Given the description of an element on the screen output the (x, y) to click on. 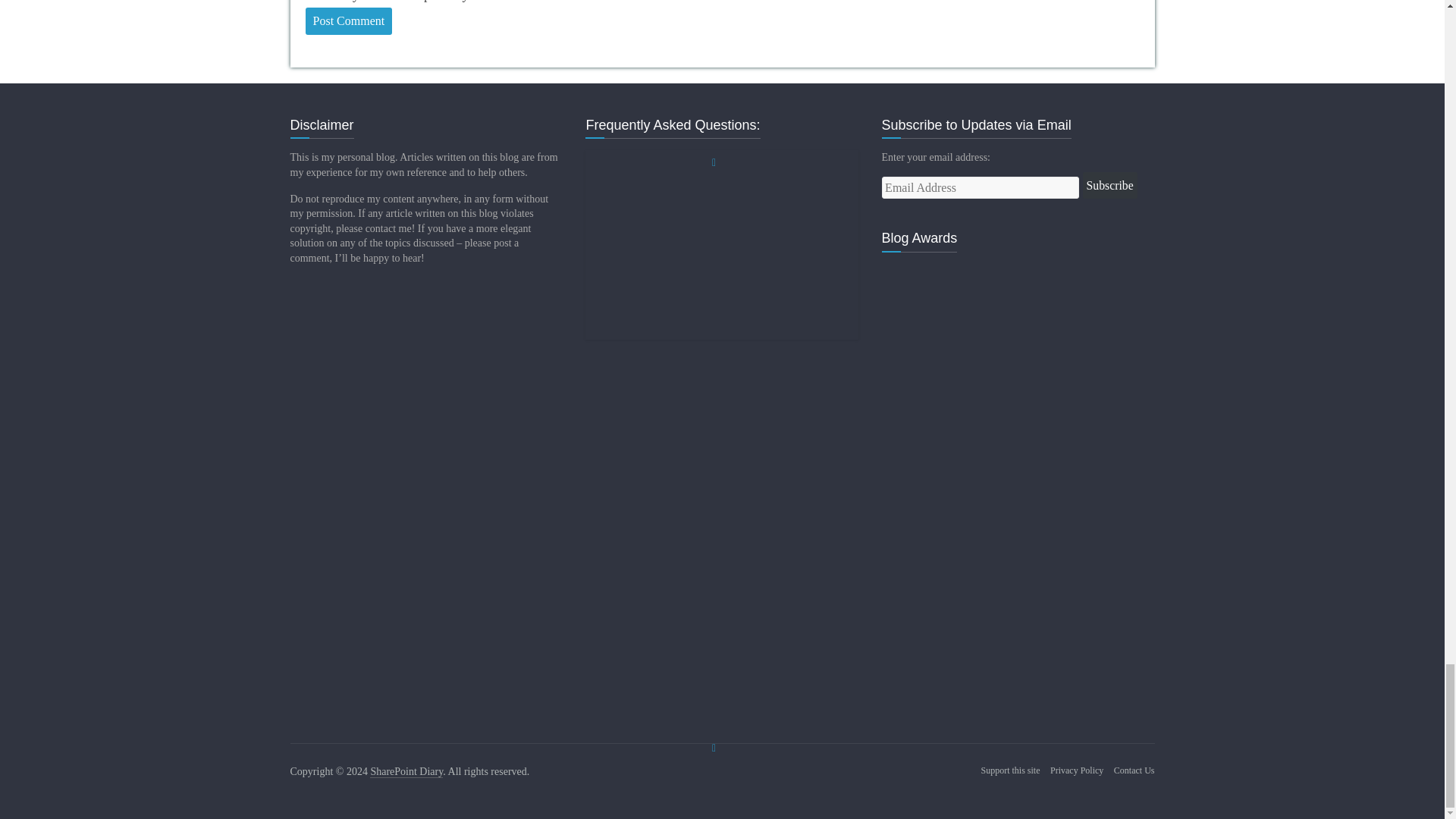
Post Comment (347, 21)
